Given the description of an element on the screen output the (x, y) to click on. 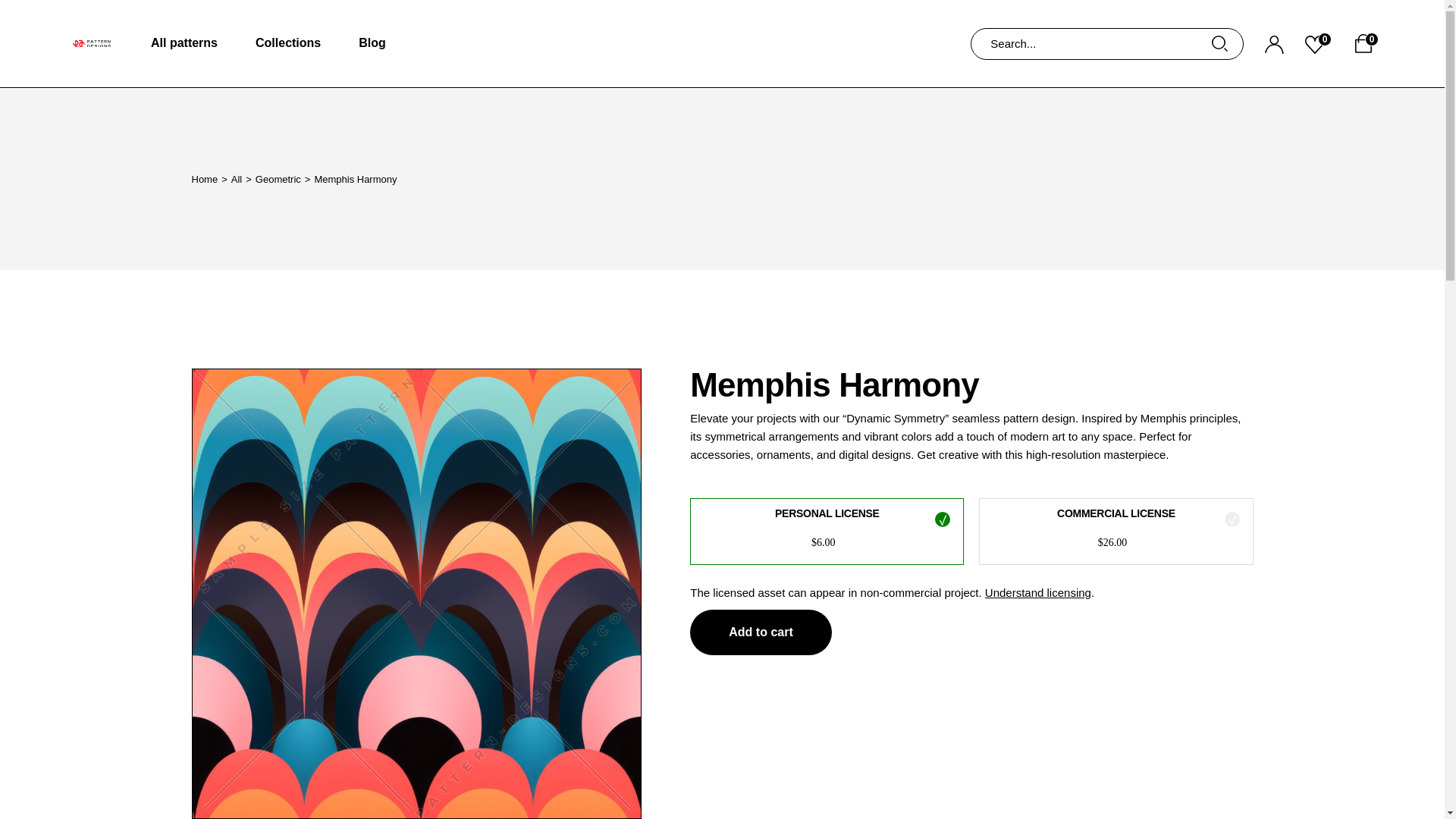
All patterns (184, 43)
Understand licensing (1037, 592)
Geometric (278, 178)
0 (1318, 43)
All (236, 178)
Home (203, 178)
Add to cart (760, 632)
Collections (288, 43)
